Given the description of an element on the screen output the (x, y) to click on. 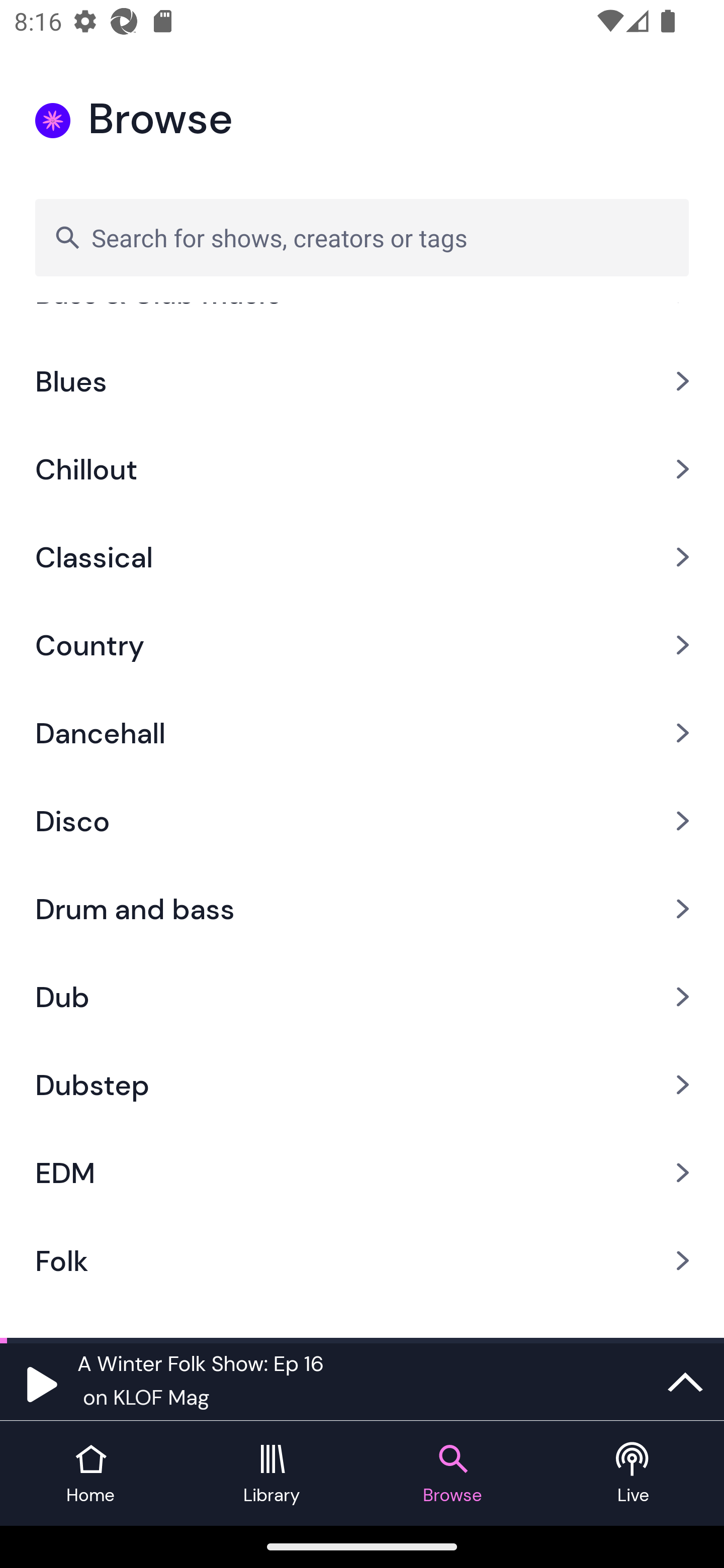
Search for shows, creators or tags (361, 237)
Blues (361, 380)
Chillout (361, 468)
Classical (361, 556)
Country (361, 644)
Dancehall (361, 732)
Disco (361, 821)
Drum and bass (361, 909)
Dub (361, 997)
Dubstep (361, 1084)
EDM (361, 1172)
Folk (361, 1260)
Home tab Home (90, 1473)
Library tab Library (271, 1473)
Browse tab Browse (452, 1473)
Live tab Live (633, 1473)
